Given the description of an element on the screen output the (x, y) to click on. 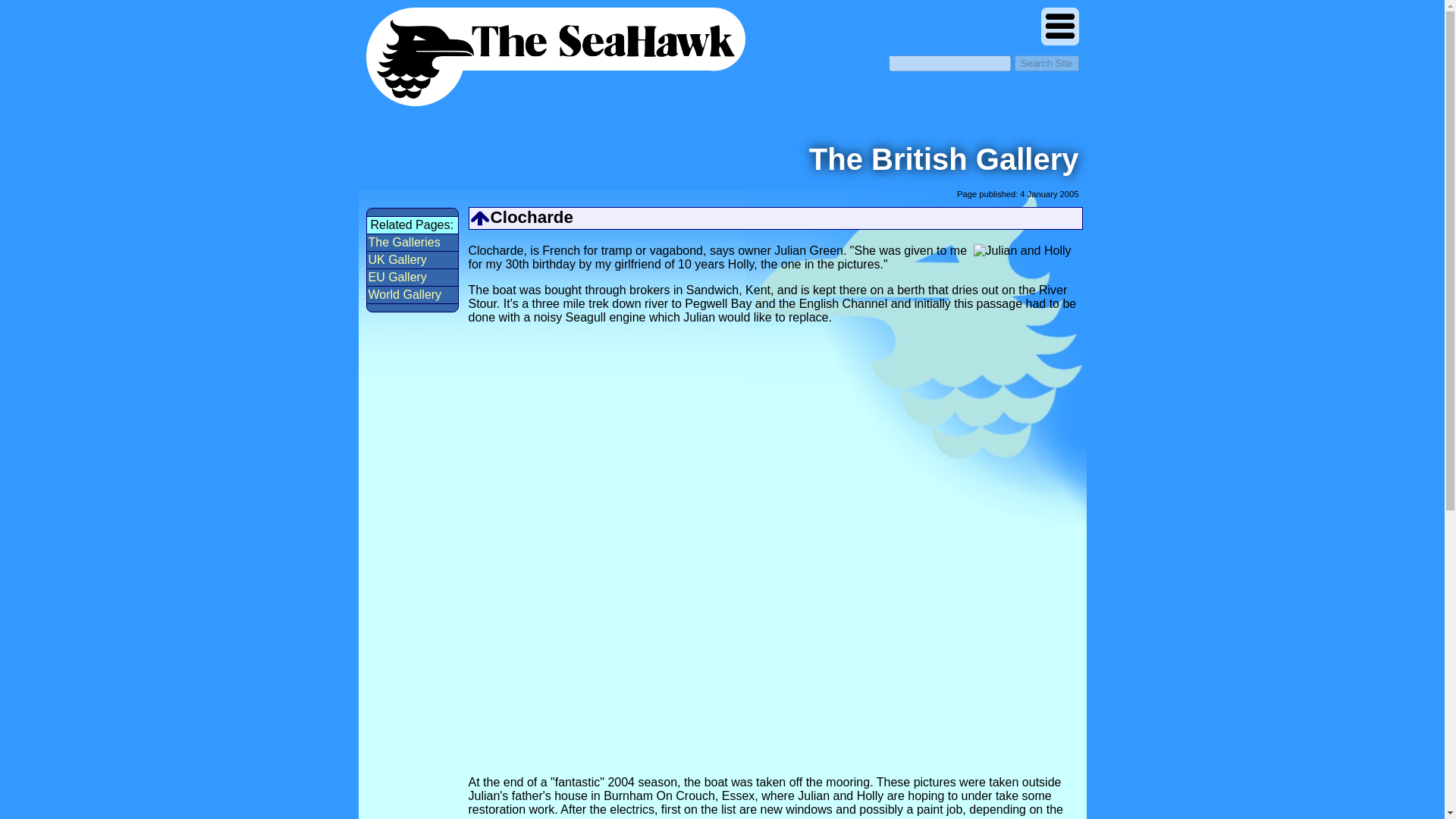
Search Site (1046, 63)
